Given the description of an element on the screen output the (x, y) to click on. 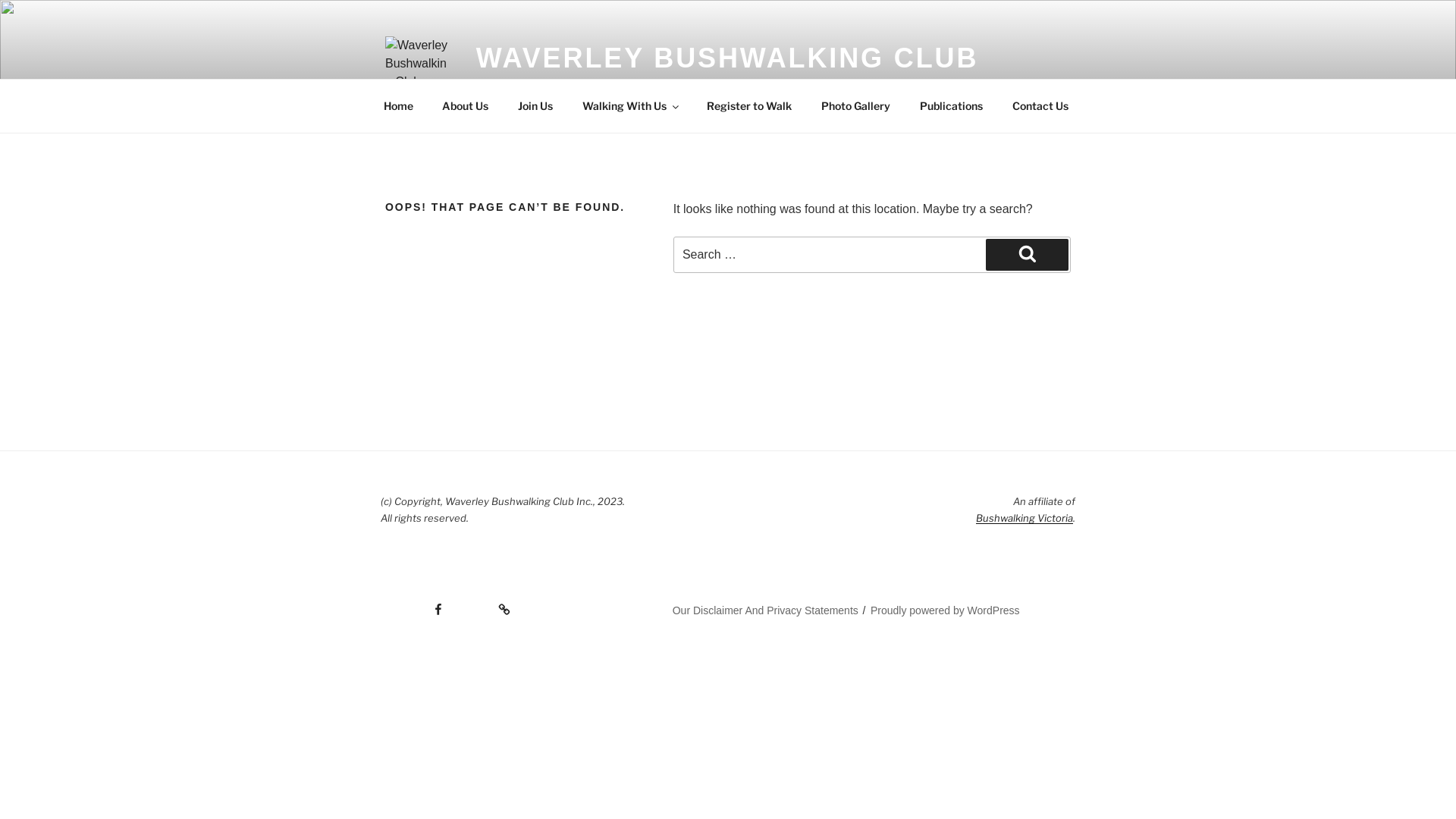
Photo Gallery Element type: text (855, 105)
Home Element type: text (398, 105)
About Us Element type: text (465, 105)
Register to Walk Element type: text (749, 105)
WAVERLEY BUSHWALKING CLUB Element type: text (727, 57)
Walking With Us Element type: text (629, 105)
OnTrax Element type: text (485, 604)
Our Disclaimer And Privacy Statements Element type: text (765, 610)
Publications Element type: text (950, 105)
Bushwalking Victoria Element type: text (1024, 517)
Contact Us Element type: text (1039, 105)
Proudly powered by WordPress Element type: text (944, 610)
Join Us Element type: text (535, 105)
Search Element type: text (1026, 254)
Facebook Element type: text (412, 604)
